Given the description of an element on the screen output the (x, y) to click on. 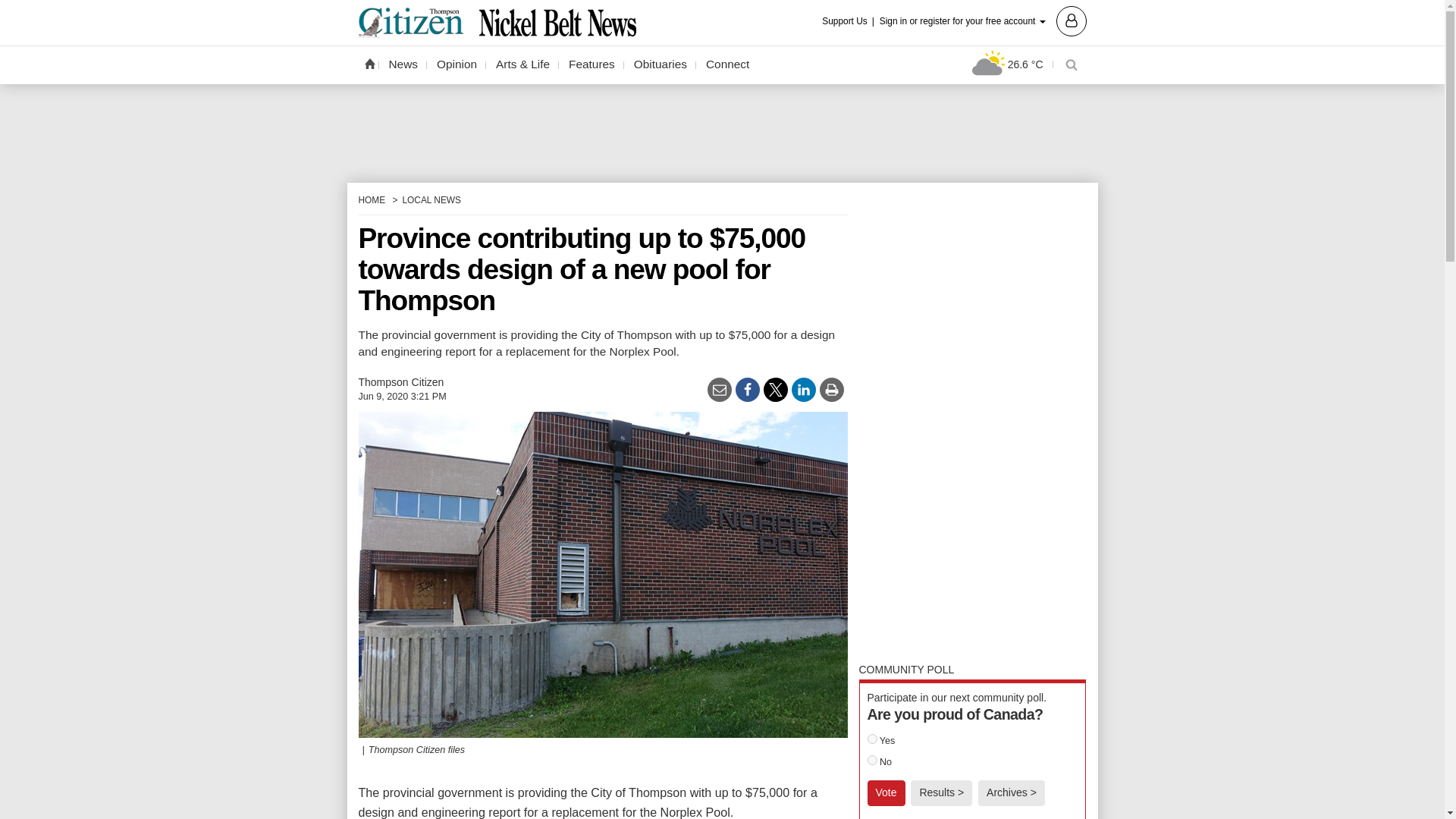
3rd party ad content (721, 133)
Opinion (456, 64)
Sign in or register for your free account (982, 20)
News (403, 64)
122183 (872, 759)
122182 (872, 738)
Features (591, 64)
Home (368, 63)
Support Us (849, 21)
